Given the description of an element on the screen output the (x, y) to click on. 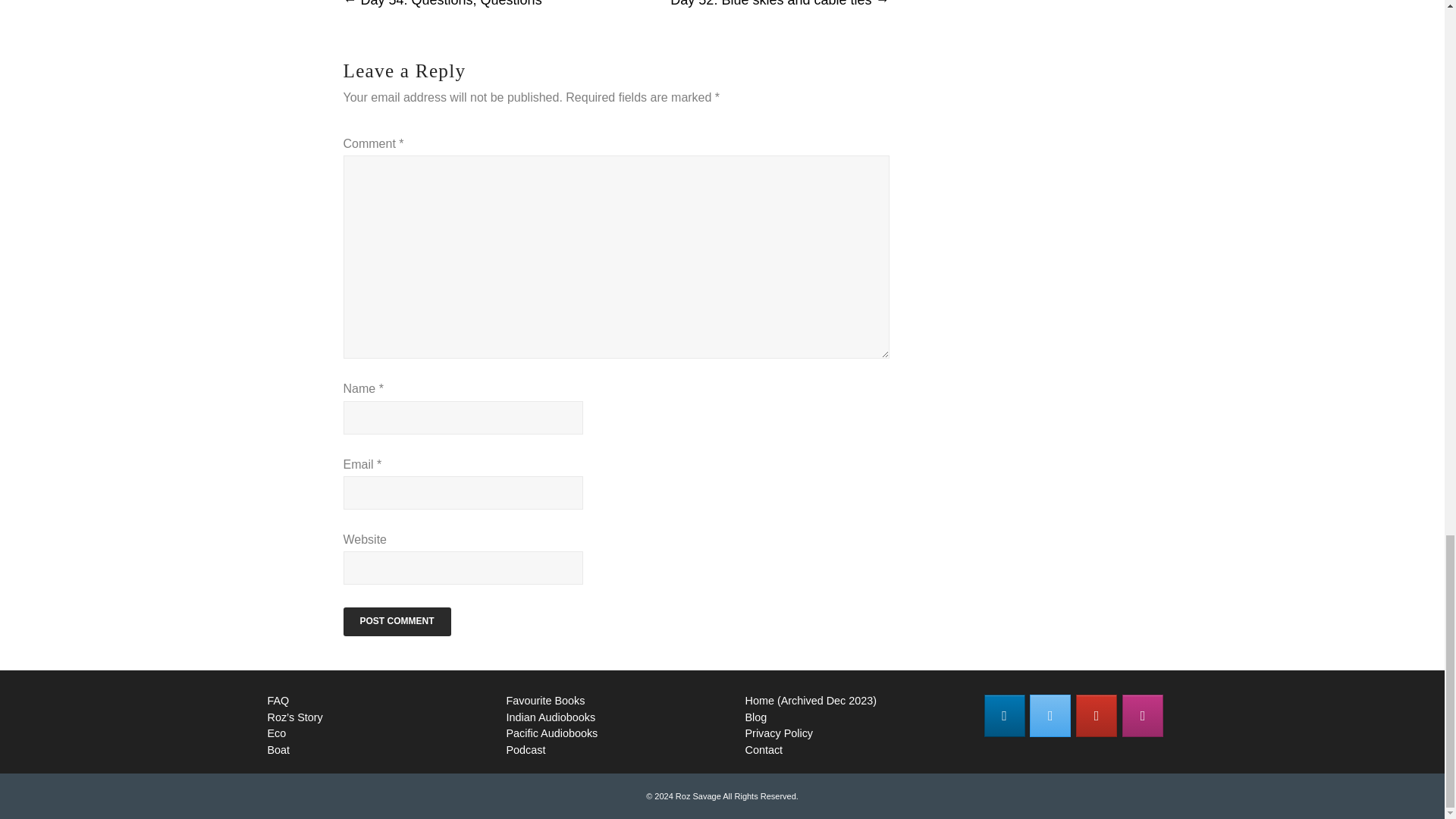
Post Comment (395, 621)
Roz Savage on Youtube (1095, 715)
Post Comment (395, 621)
Roz Savage on Instagram (1142, 715)
Roz Savage on Linkedin (1004, 715)
Roz Savage on X Twitter (1049, 715)
